Given the description of an element on the screen output the (x, y) to click on. 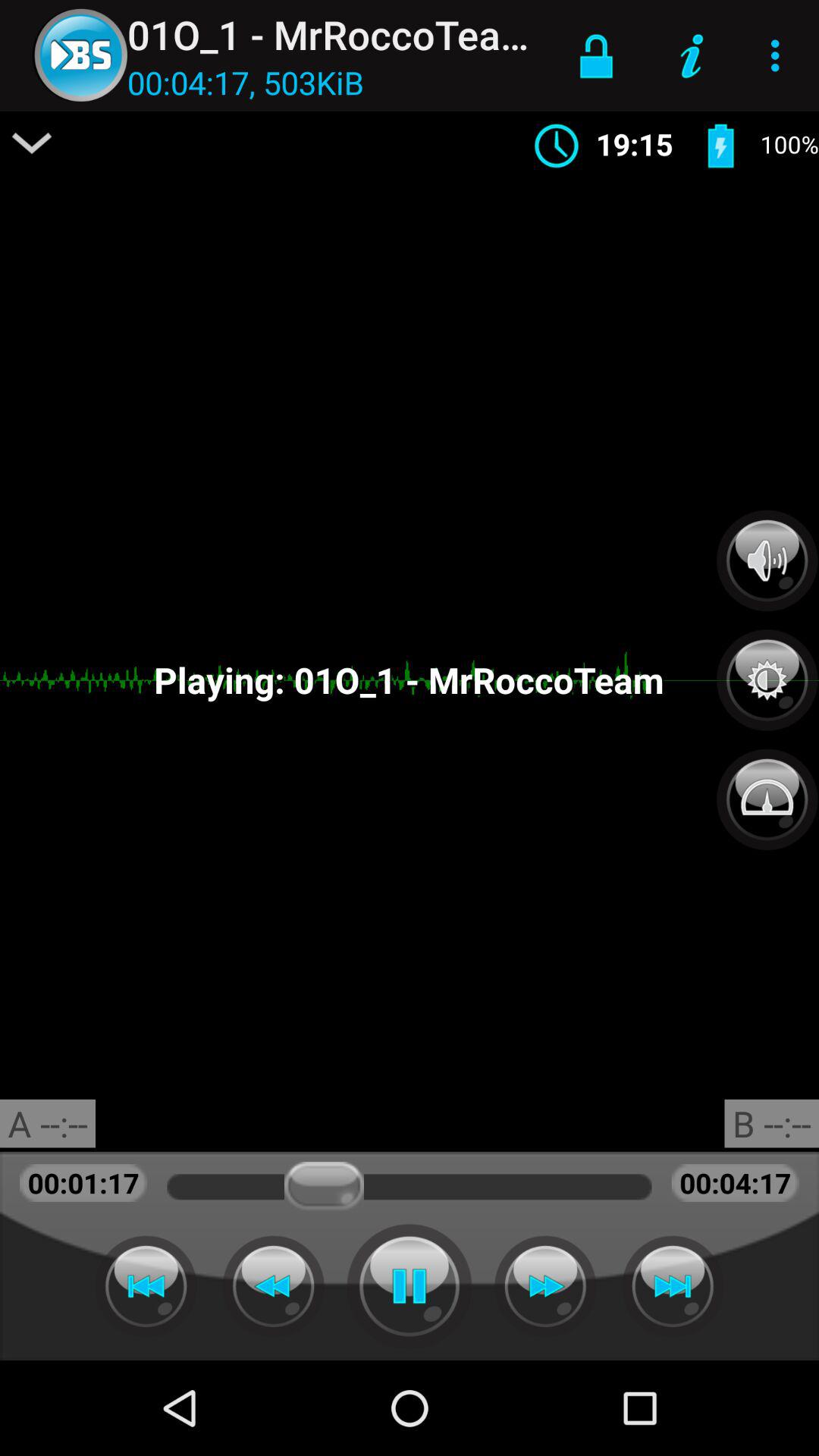
adjust brightness (767, 671)
